Given the description of an element on the screen output the (x, y) to click on. 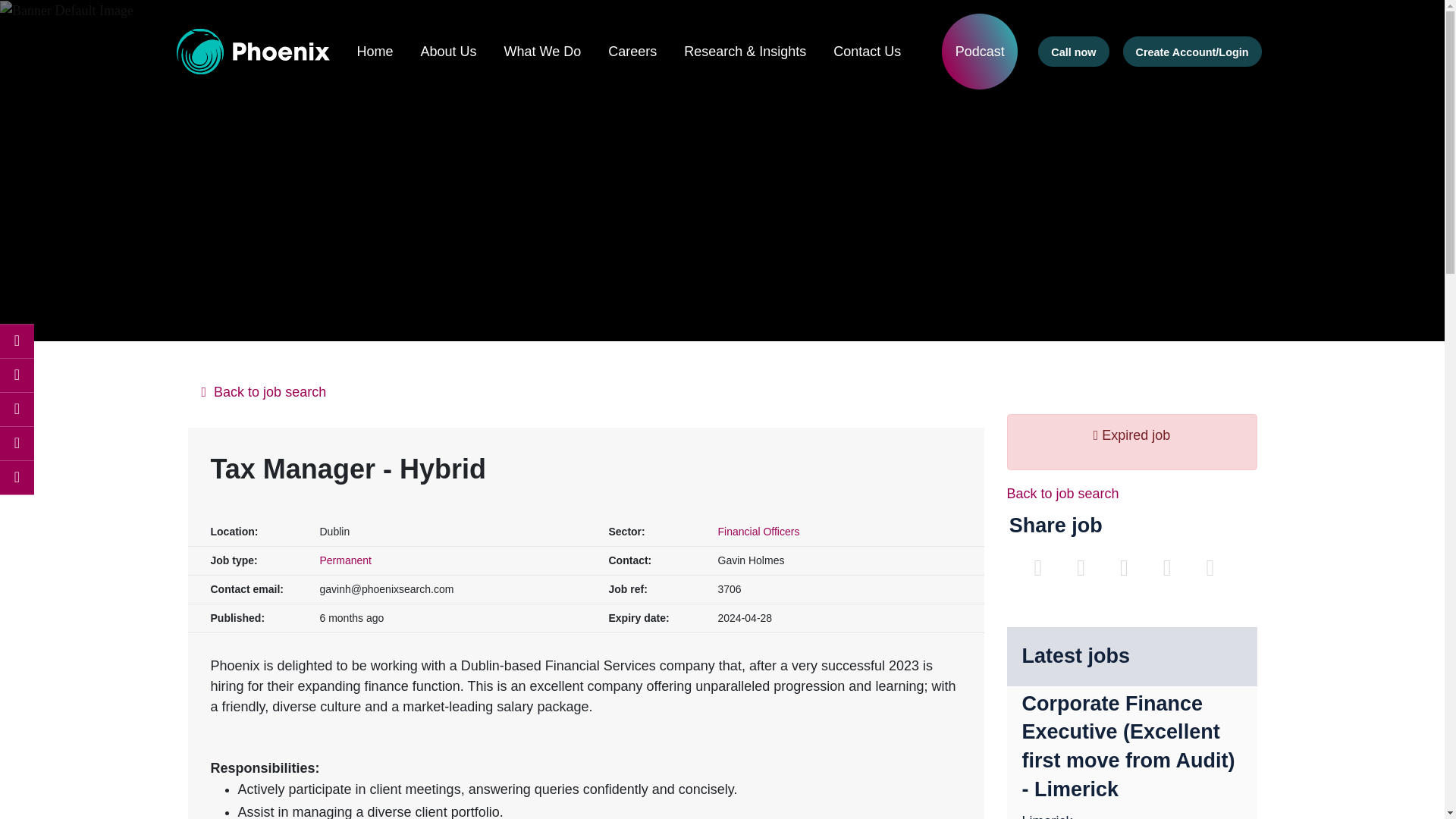
youtube (16, 478)
About Us (448, 50)
facebook (16, 341)
Contact Us (866, 50)
linkedIn (16, 374)
Careers (632, 50)
Home (374, 50)
Call now (1073, 51)
What We Do (541, 50)
twitter (16, 409)
